Given the description of an element on the screen output the (x, y) to click on. 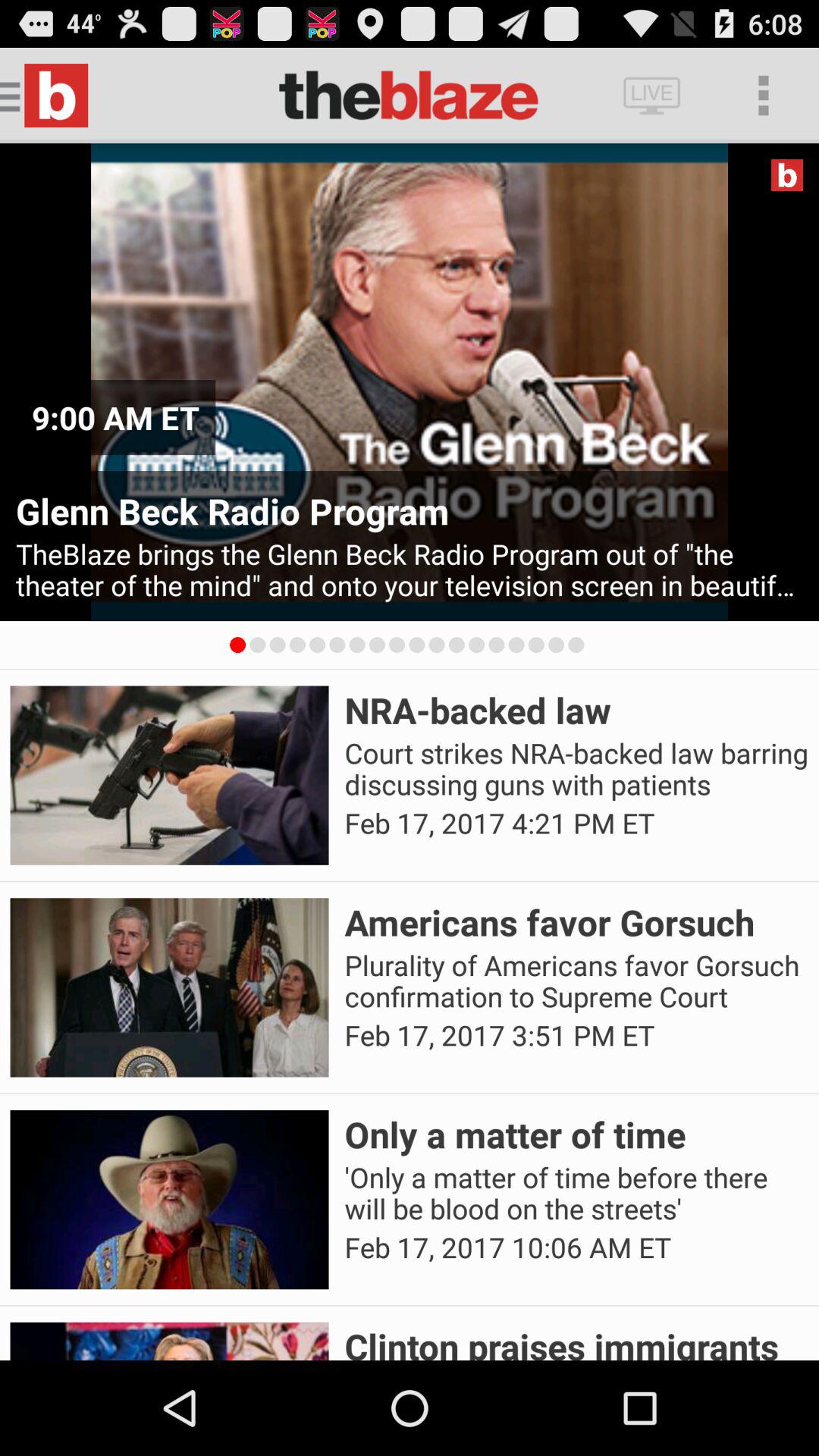
turn off the court strikes nra app (576, 769)
